Given the description of an element on the screen output the (x, y) to click on. 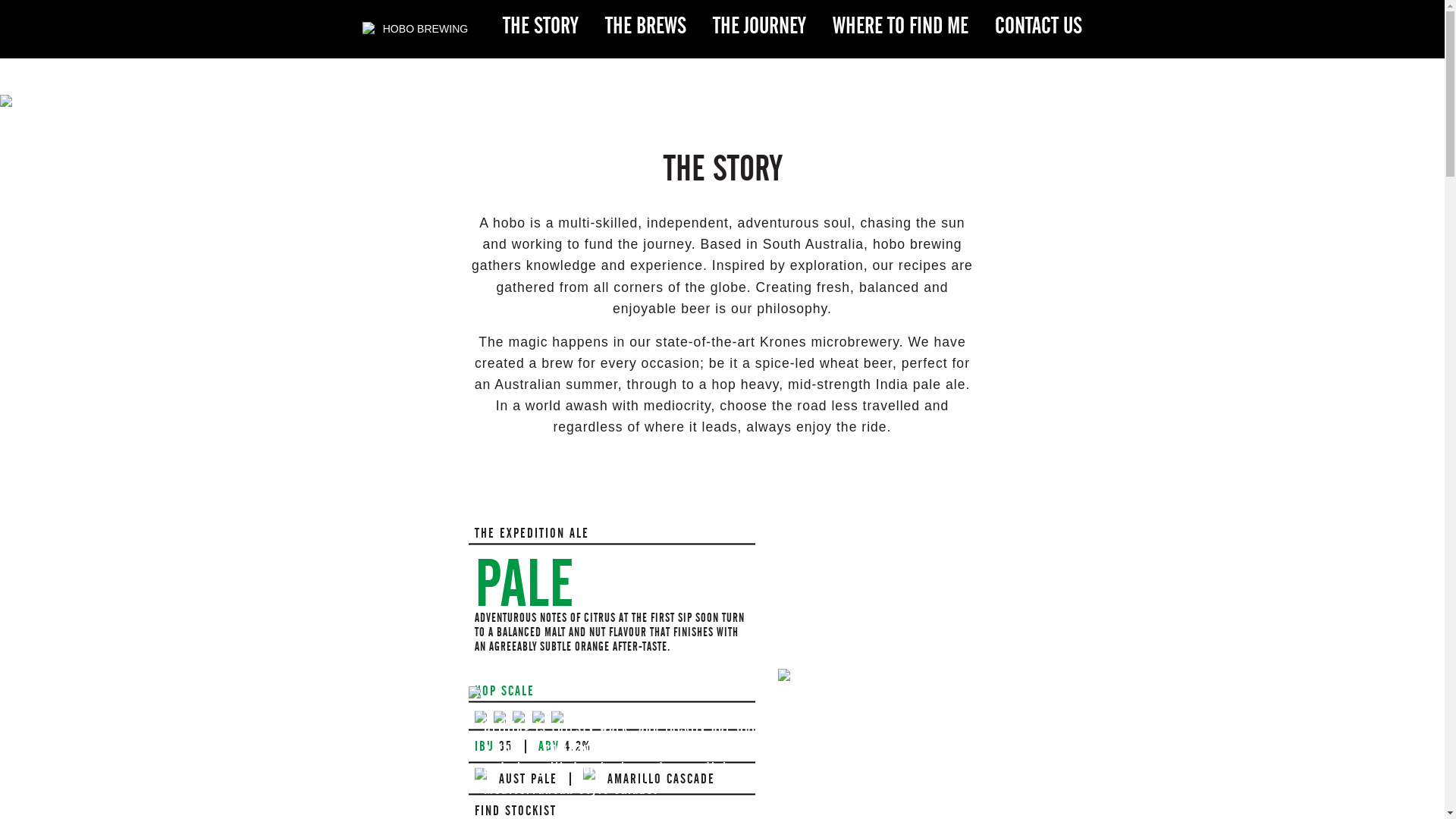
FIND STOCKIST Element type: text (515, 810)
CONTACT US Element type: text (1038, 25)
THE JOURNEY Element type: text (759, 25)
WHERE TO FIND ME Element type: text (900, 25)
THE STORY Element type: text (540, 25)
THE BREWS Element type: text (645, 25)
